Given the description of an element on the screen output the (x, y) to click on. 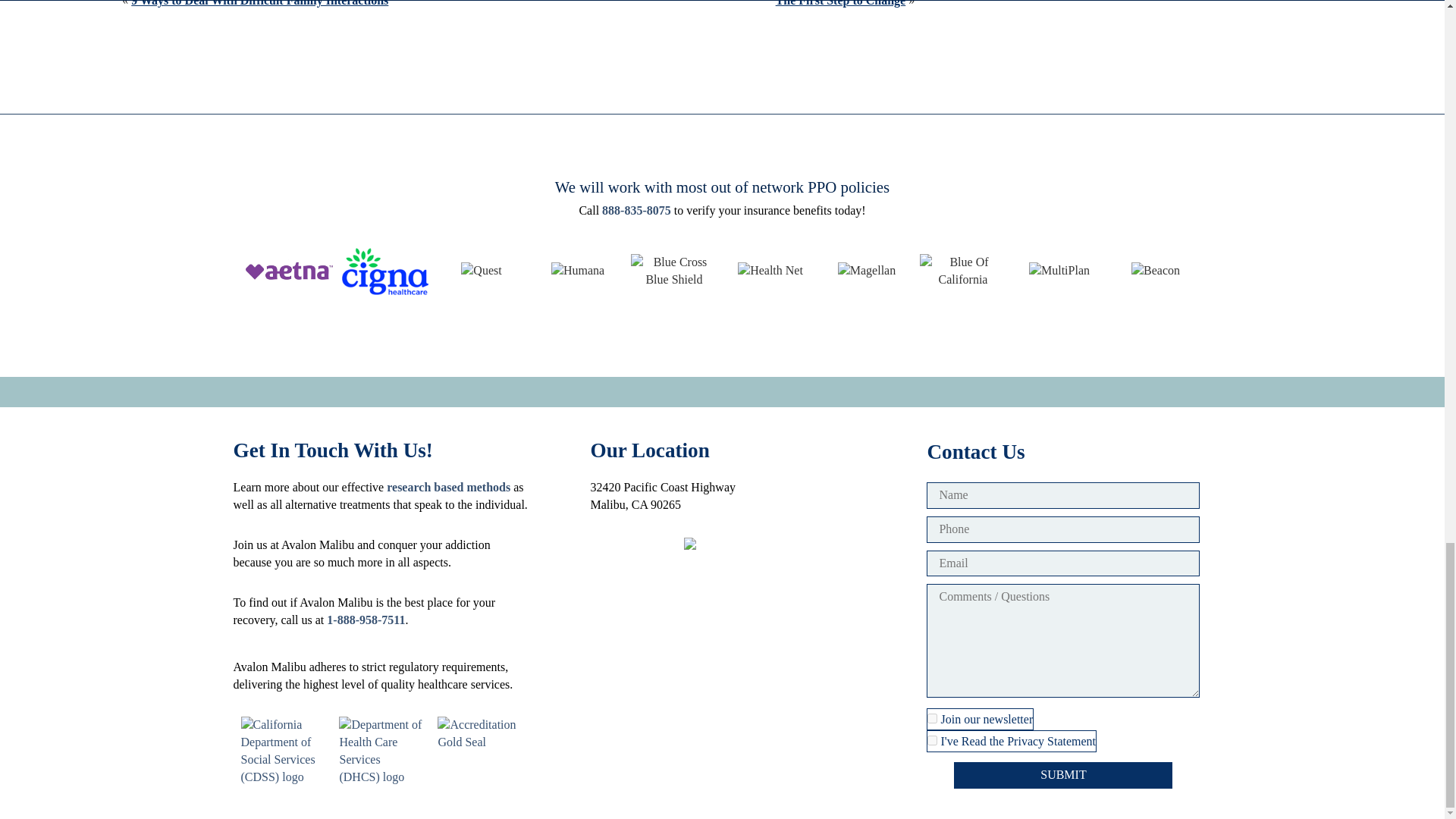
Submit (1062, 775)
Join our newsletter (932, 718)
I've Read the Privacy Statement (932, 740)
